Given the description of an element on the screen output the (x, y) to click on. 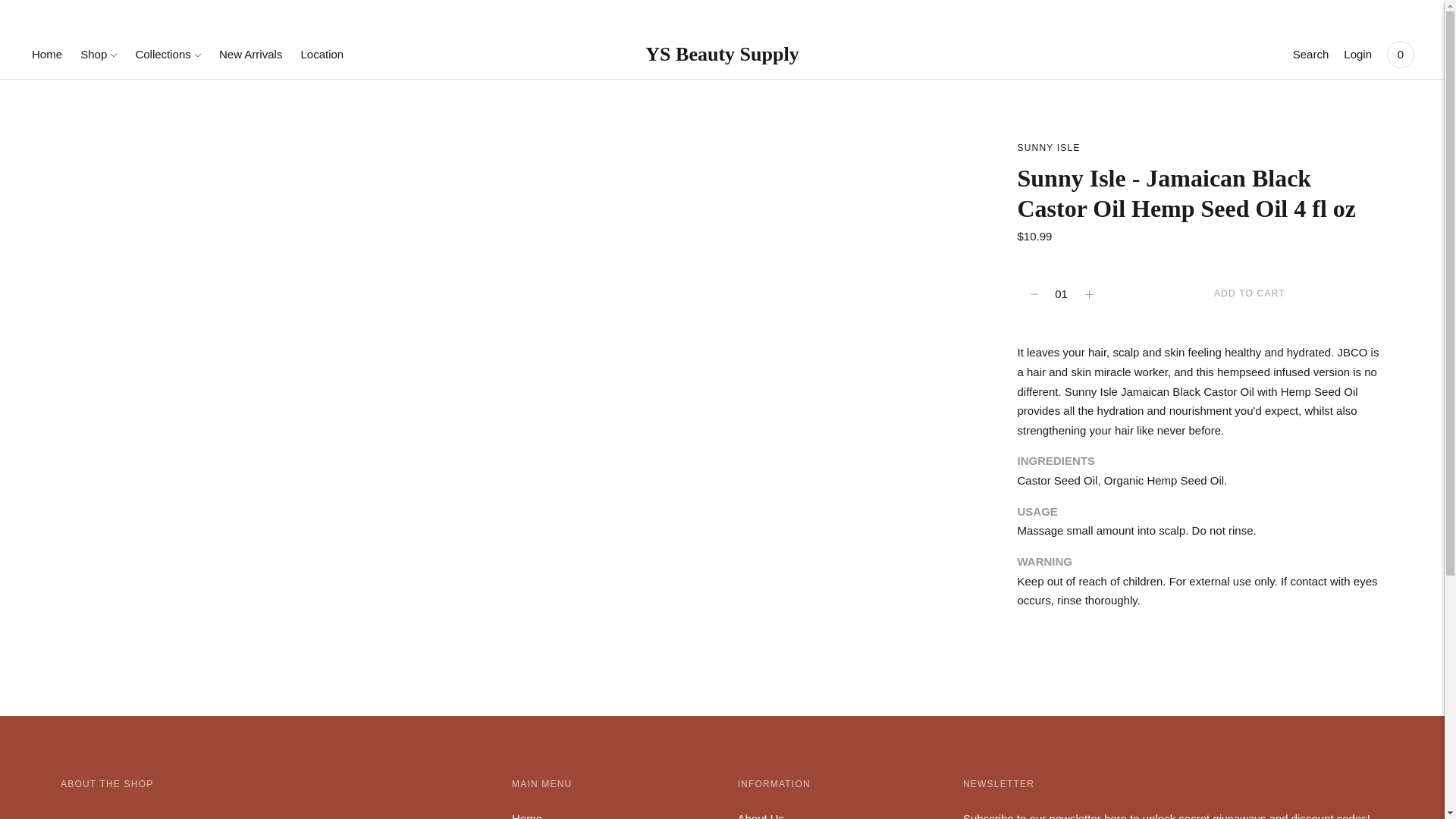
Shop (98, 54)
01 (1061, 294)
Collections (167, 54)
Home (47, 54)
Sunny Isle (1048, 147)
